Given the description of an element on the screen output the (x, y) to click on. 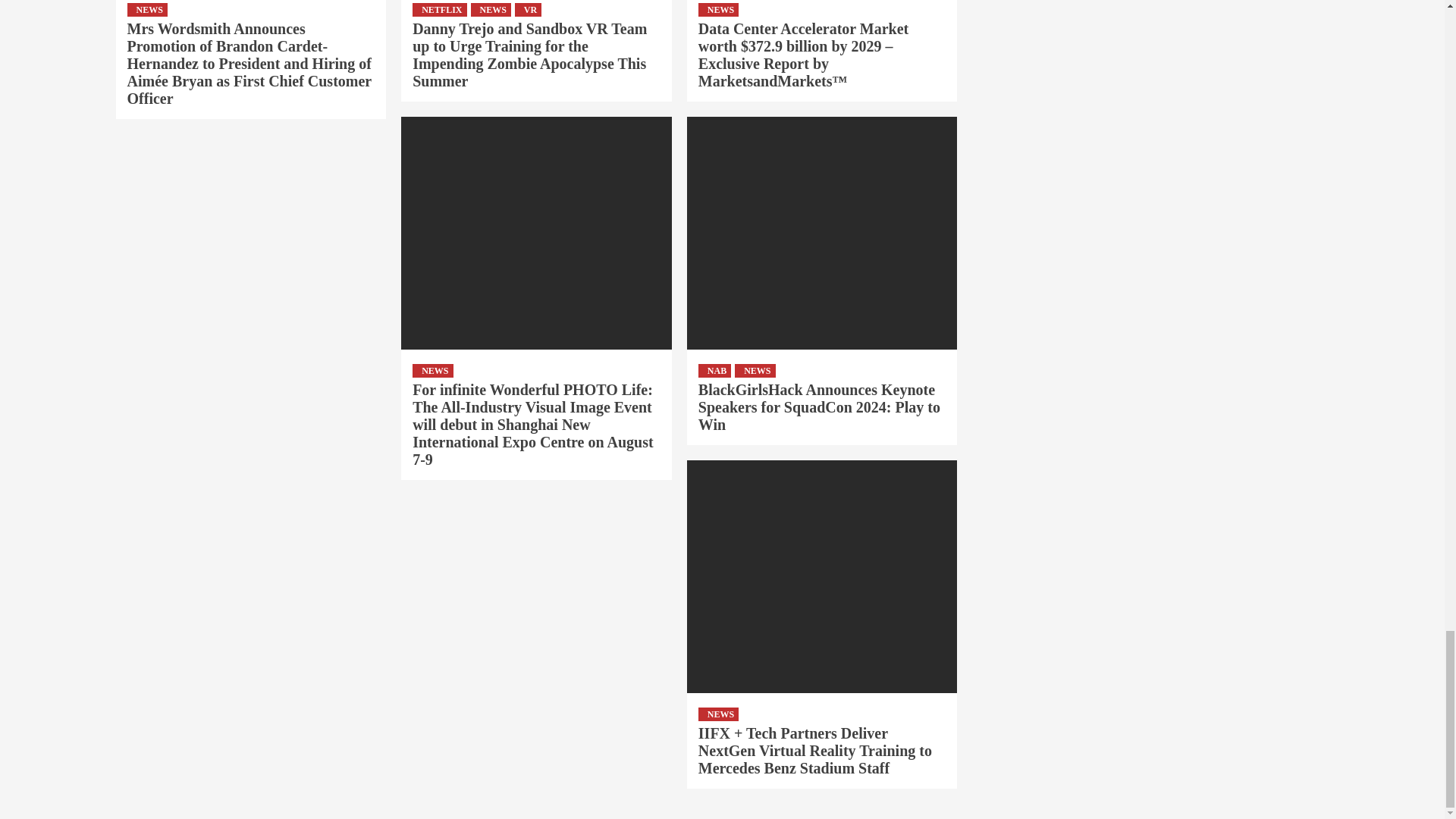
NETFLIX (438, 9)
NEWS (147, 9)
VR (528, 9)
NEWS (490, 9)
